Given the description of an element on the screen output the (x, y) to click on. 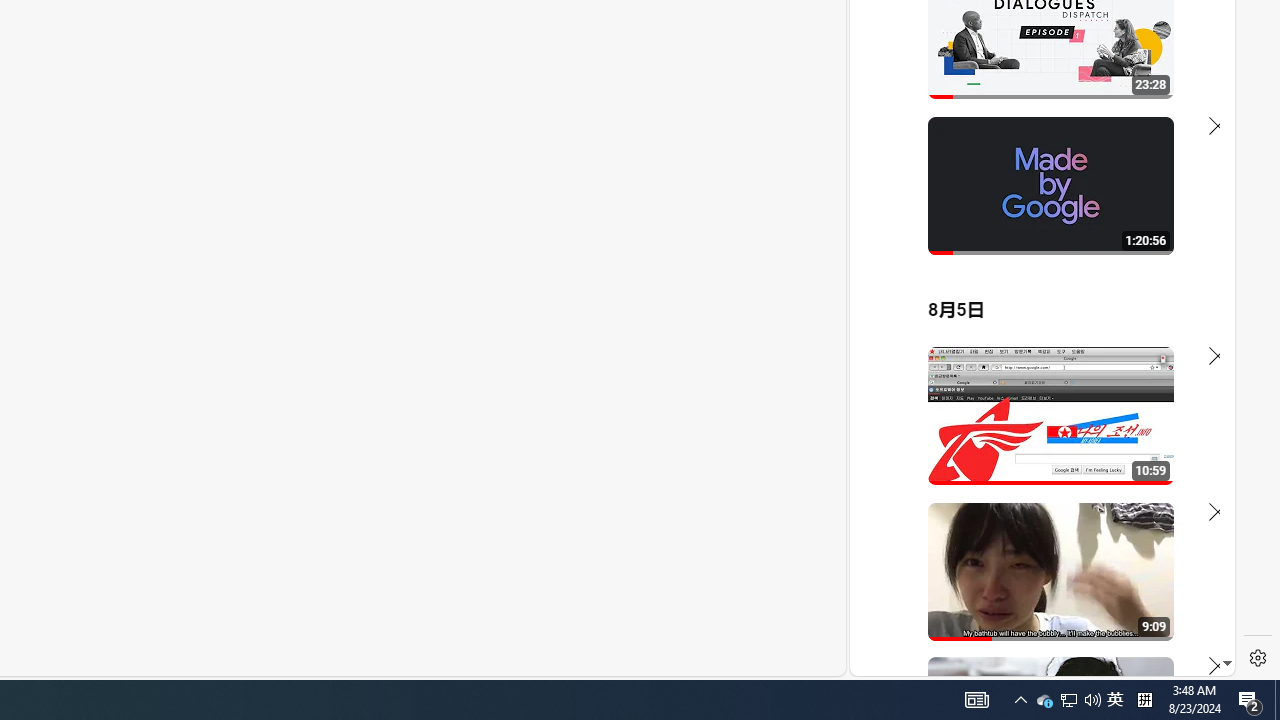
YouTube - YouTube (1034, 266)
YouTube (1034, 432)
#you (1034, 439)
US[ju] (917, 660)
Actions for this site (1131, 443)
you (1034, 609)
Class: dict_pnIcon rms_img (1028, 660)
Click to scroll right (1196, 83)
Global web icon (888, 432)
